Given the description of an element on the screen output the (x, y) to click on. 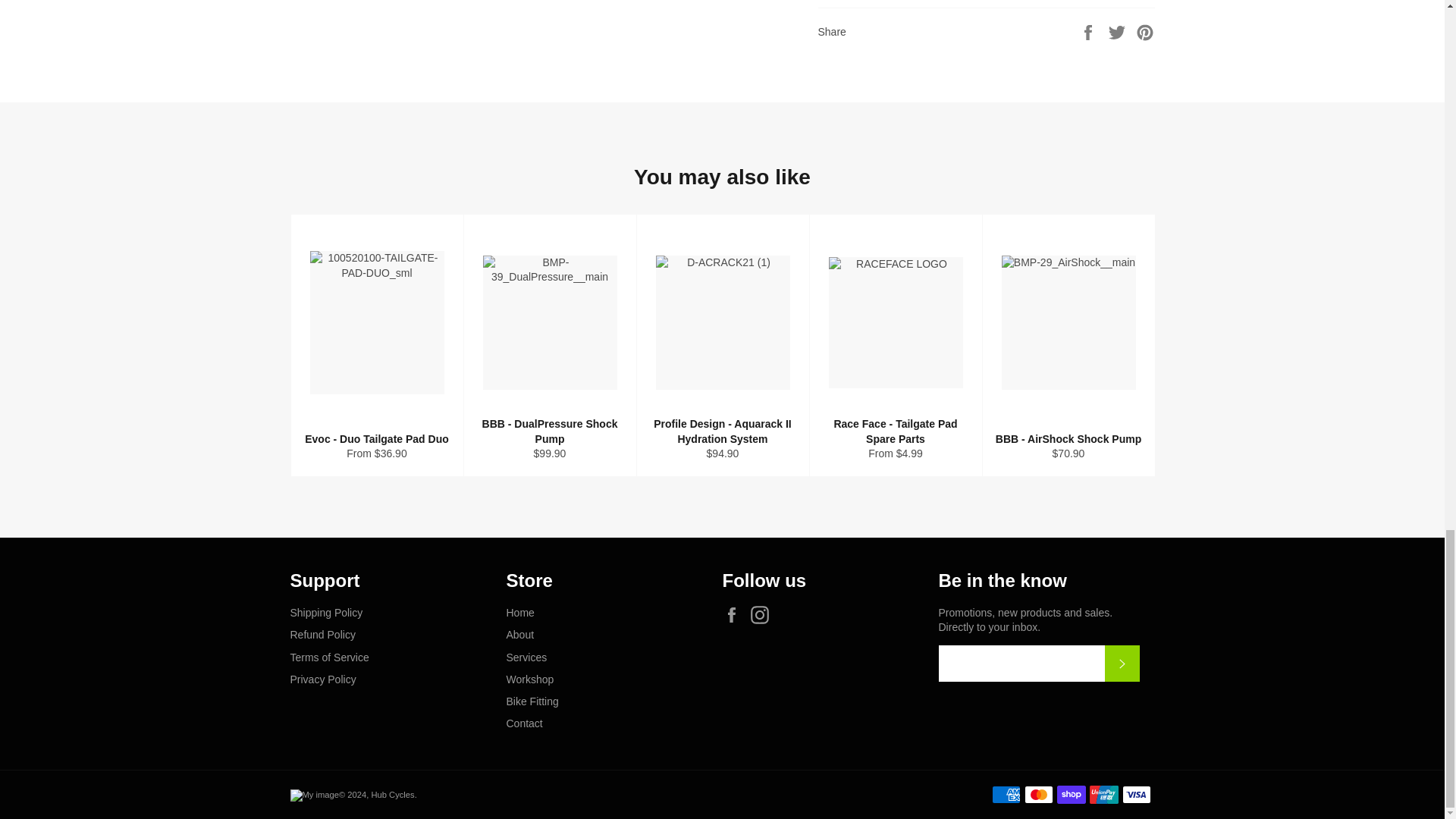
Hub Cycles on Instagram (763, 615)
My image (314, 795)
Pin on Pinterest (1144, 30)
Hub Cycles on Facebook (735, 615)
Share on Facebook (1089, 30)
Tweet on Twitter (1118, 30)
